Given the description of an element on the screen output the (x, y) to click on. 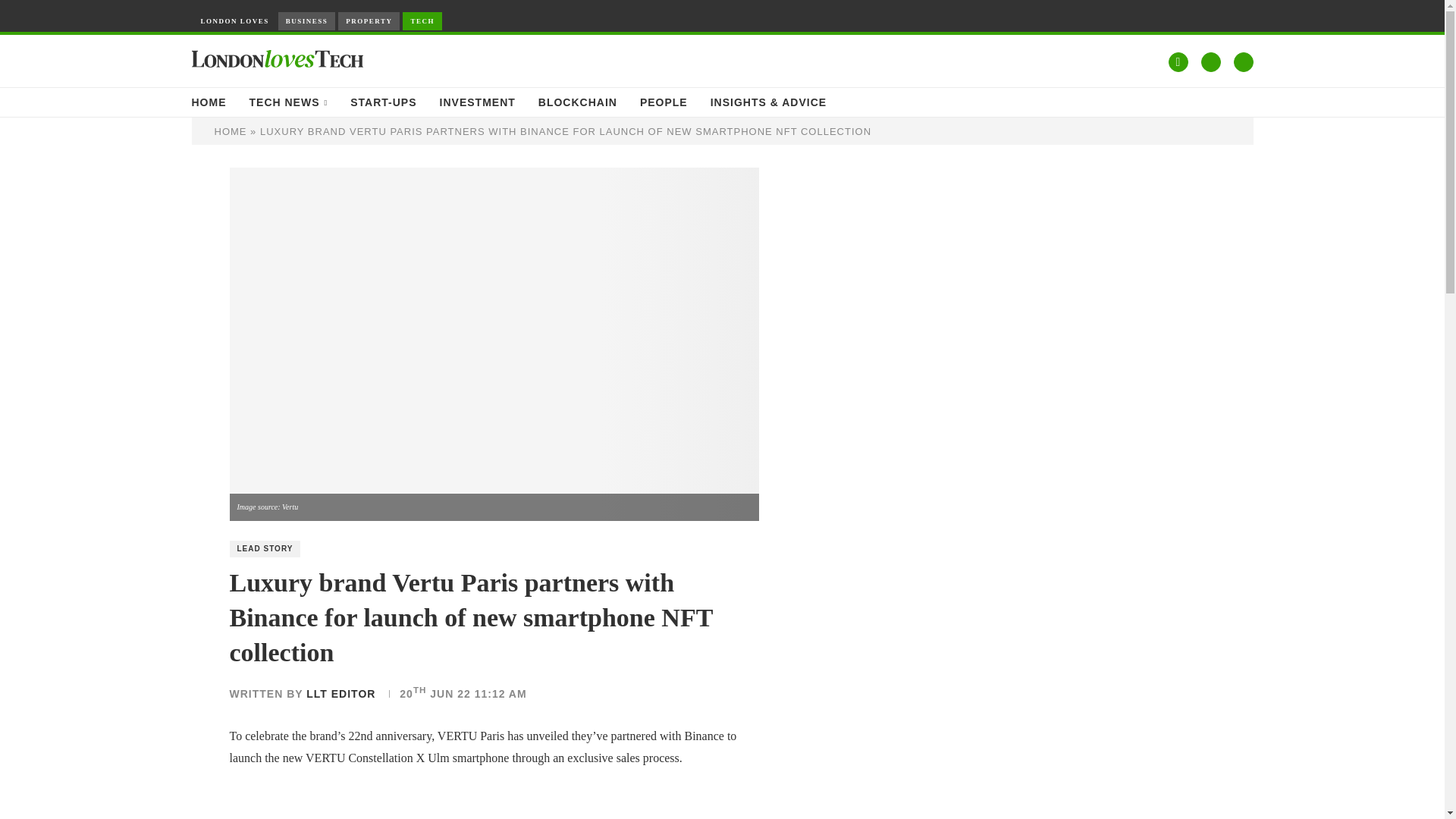
PEOPLE (663, 102)
PROPERTY (367, 21)
LONDON LOVES (234, 21)
TECH (422, 21)
INVESTMENT (477, 102)
BLOCKCHAIN (577, 102)
HOME (207, 102)
START-UPS (383, 102)
BUSINESS (307, 21)
